Given the description of an element on the screen output the (x, y) to click on. 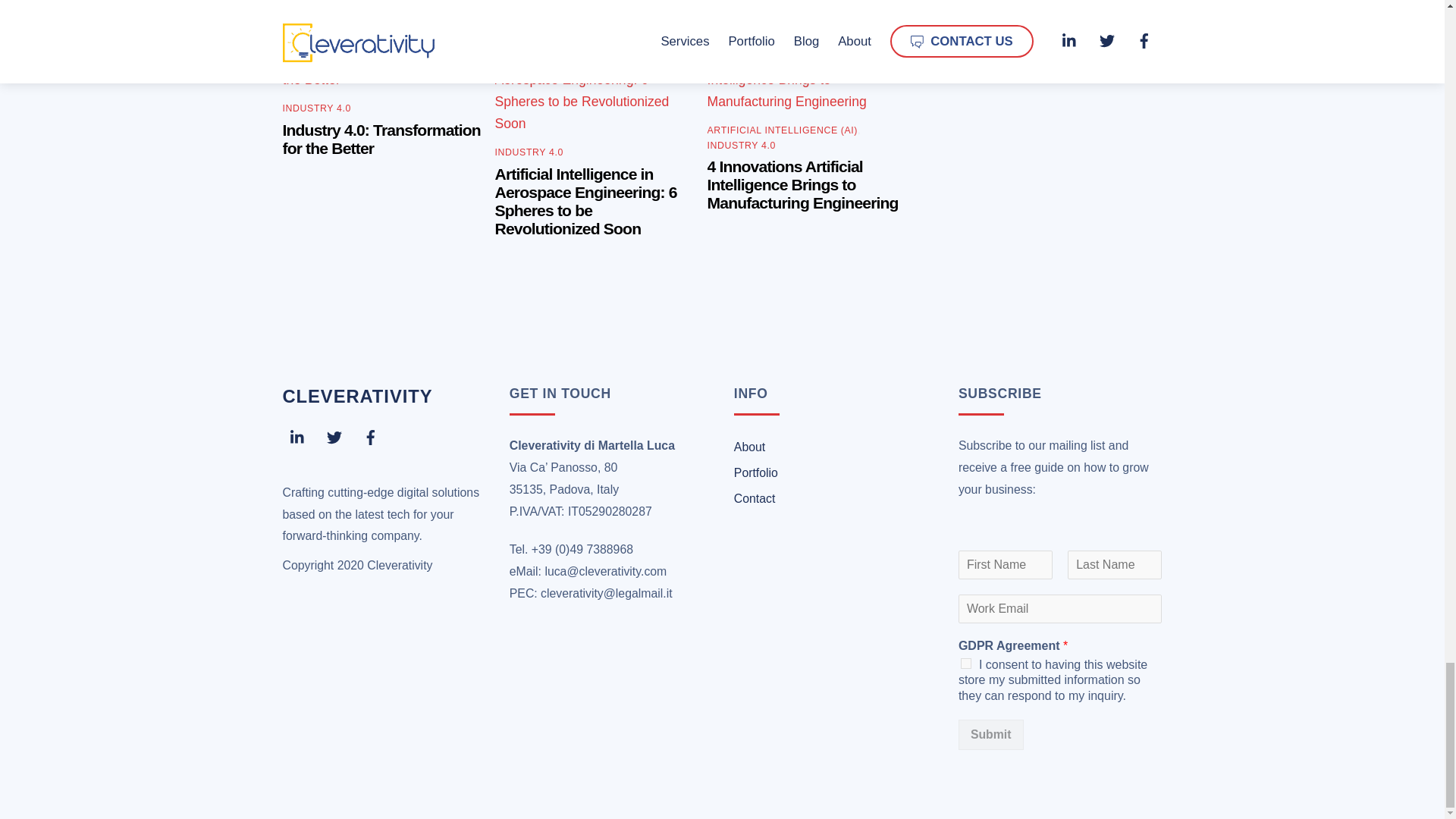
Industry 4.0: Transformation for the Better (381, 68)
INDUSTRY 4.0 (316, 108)
Cleverativity (357, 395)
Industry 4.0: Transformation for the Better (381, 139)
INDUSTRY 4.0 (741, 145)
